Given the description of an element on the screen output the (x, y) to click on. 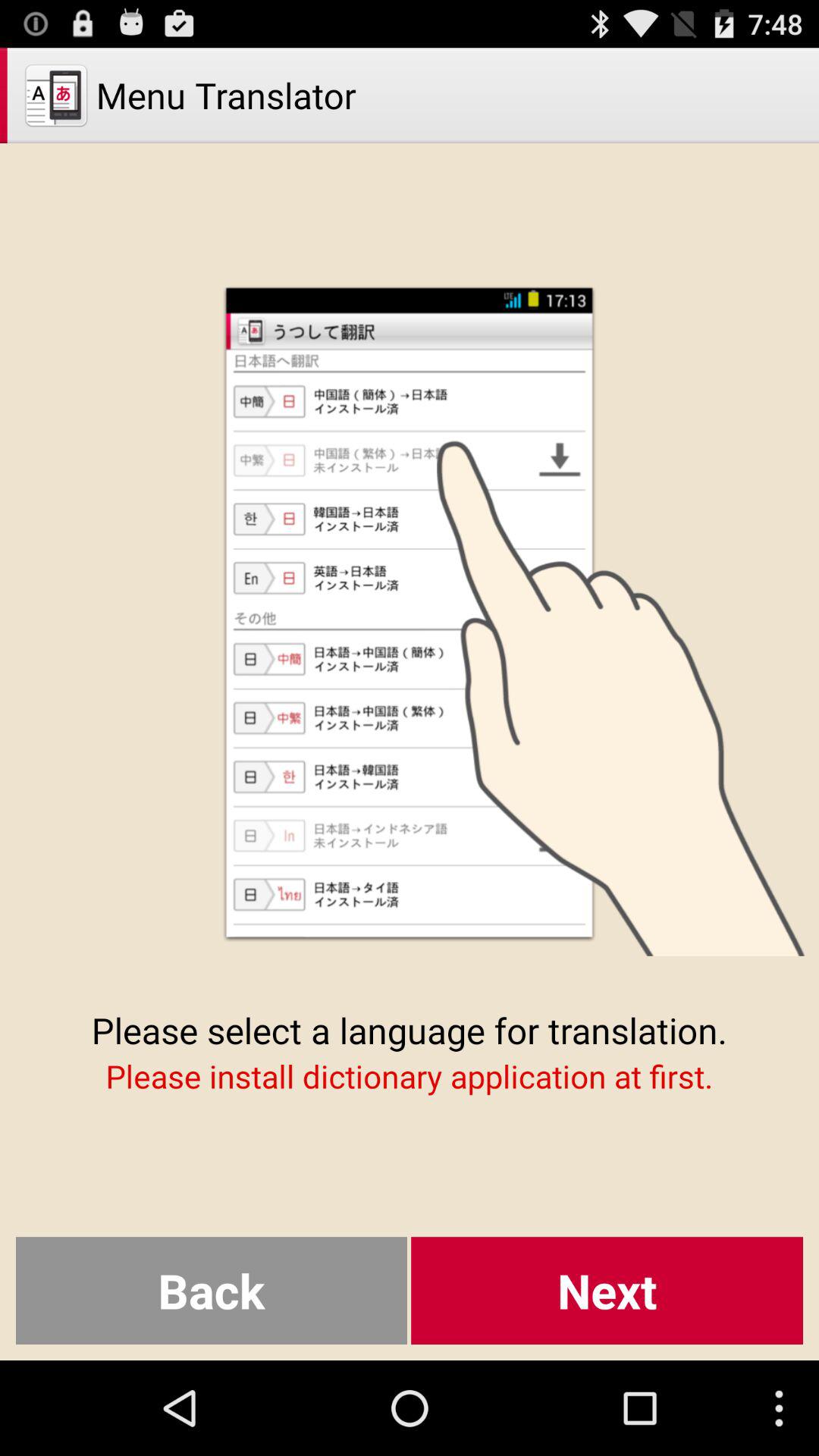
swipe to back item (211, 1290)
